Given the description of an element on the screen output the (x, y) to click on. 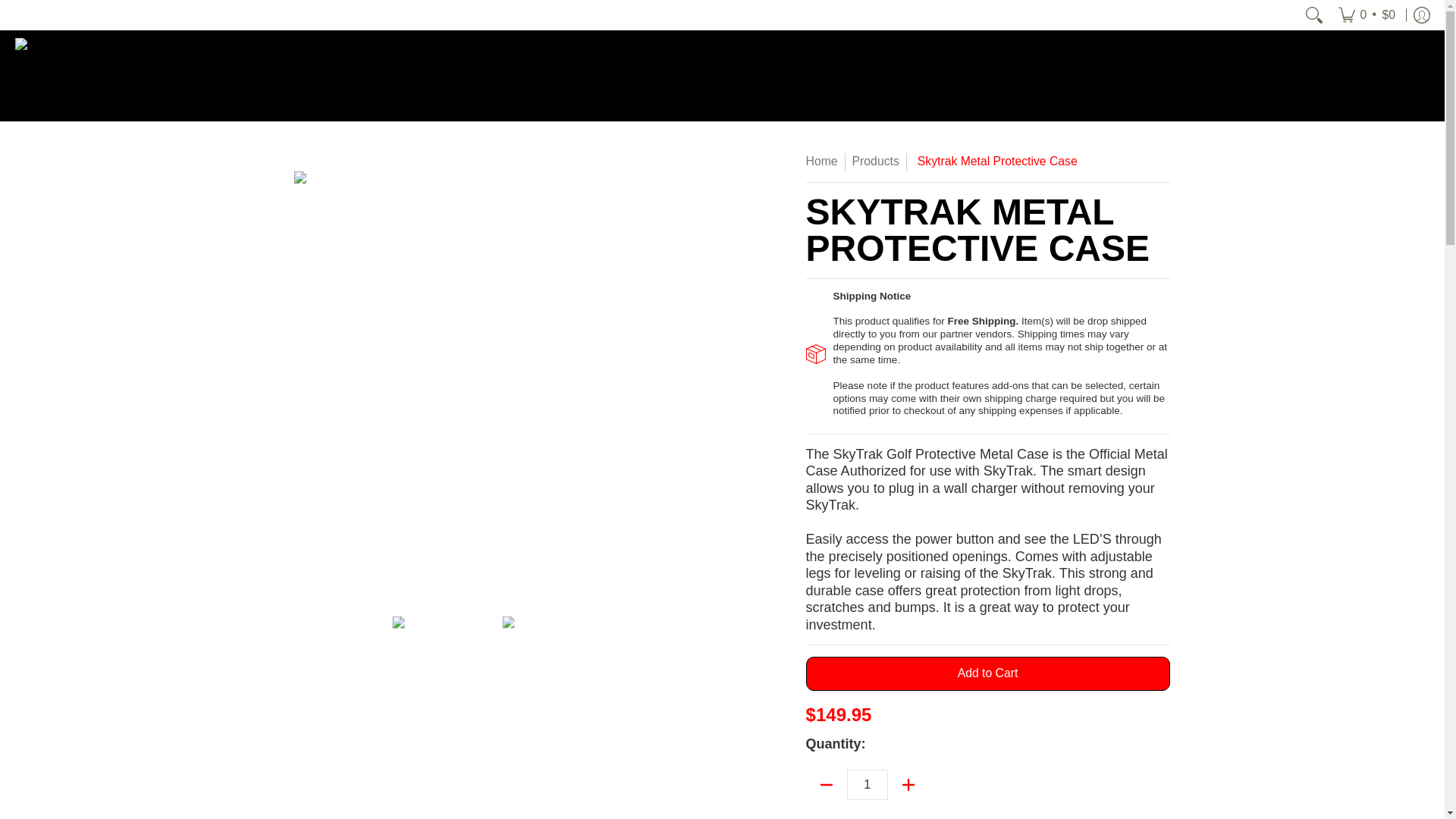
Log in (1421, 15)
1 (867, 784)
Cart (1366, 15)
Home (822, 160)
Products (875, 160)
Add to Cart (988, 673)
